Given the description of an element on the screen output the (x, y) to click on. 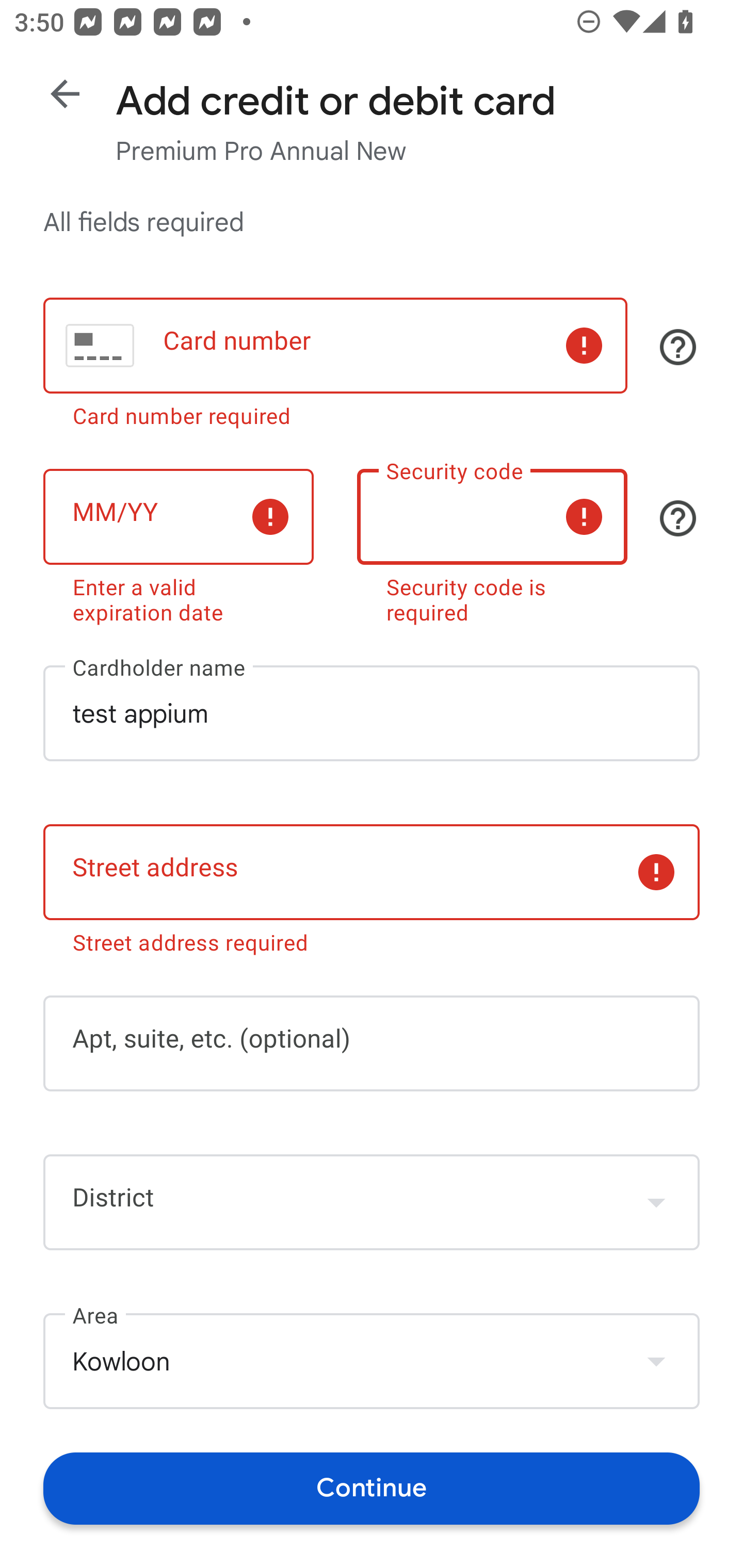
Back (64, 93)
Card number (335, 345)
Button, shows cards that are accepted for payment (677, 347)
Expiration date, 2 digit month, 2 digit year (178, 516)
Security code (492, 516)
Security code help (677, 518)
test appium (371, 713)
Street address (371, 872)
Apt, suite, etc. (optional) (371, 1043)
District (371, 1201)
Show dropdown menu (655, 1201)
Kowloon (371, 1361)
Show dropdown menu (655, 1360)
Continue (371, 1487)
